Given the description of an element on the screen output the (x, y) to click on. 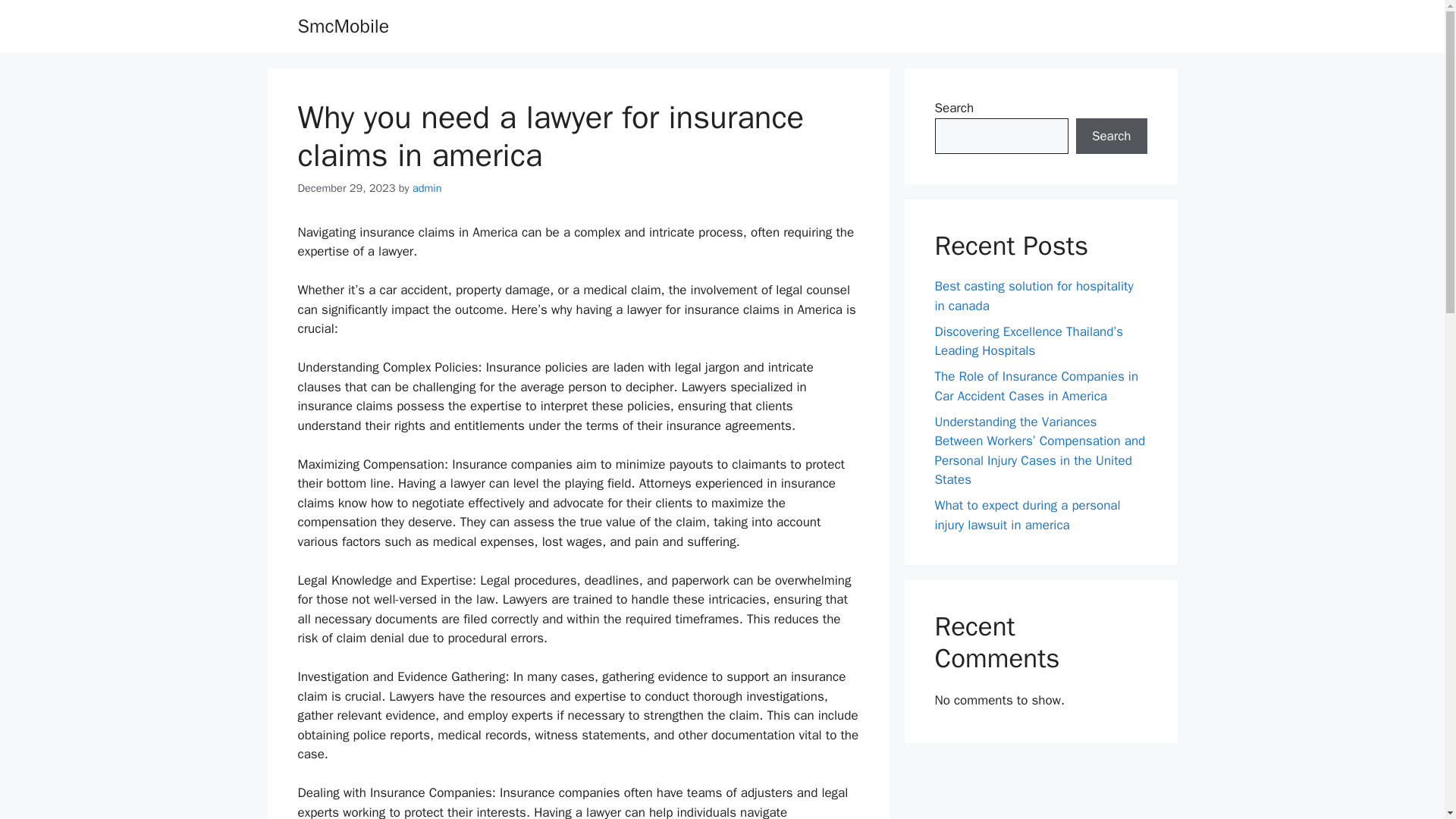
What to expect during a personal injury lawsuit in america (1026, 515)
View all posts by admin (427, 187)
Search (1111, 135)
SmcMobile (342, 25)
admin (427, 187)
Best casting solution for hospitality in canada (1033, 295)
